Given the description of an element on the screen output the (x, y) to click on. 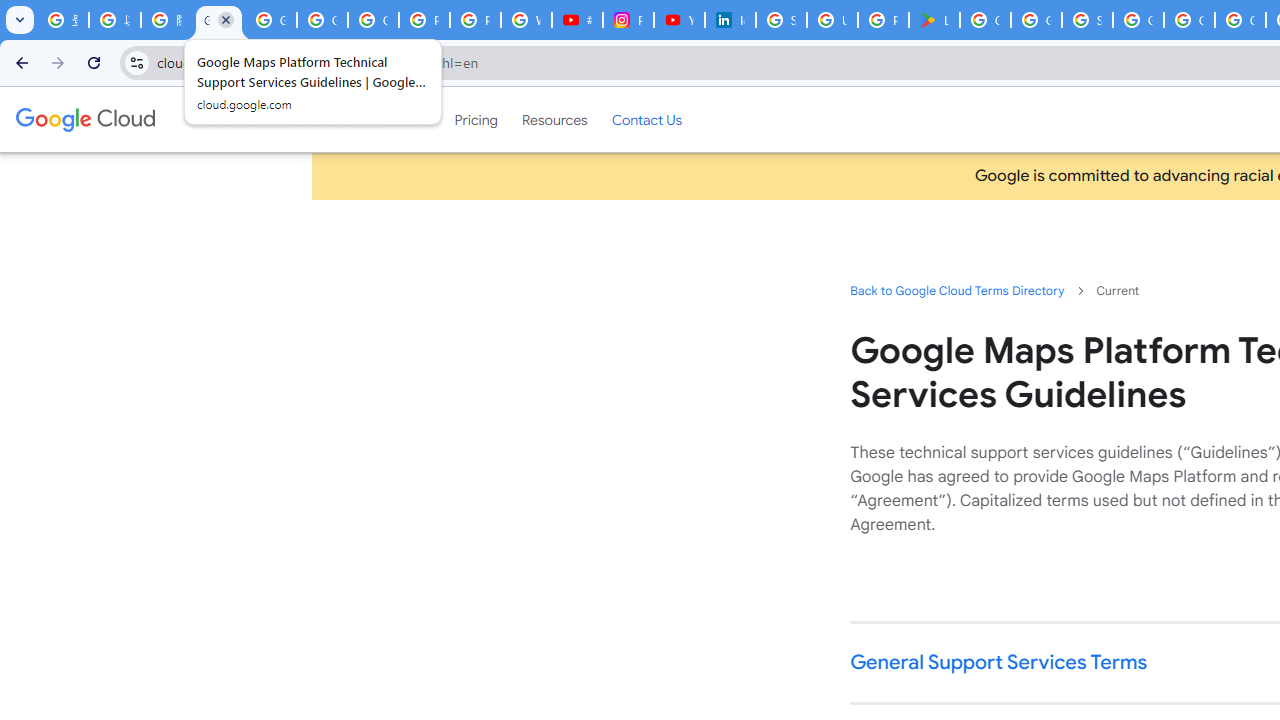
Resources (553, 119)
Solutions (320, 119)
#nbabasketballhighlights - YouTube (576, 20)
Sign in - Google Accounts (1087, 20)
YouTube Culture & Trends - On The Rise: Handcam Videos (679, 20)
Pricing (476, 119)
